Given the description of an element on the screen output the (x, y) to click on. 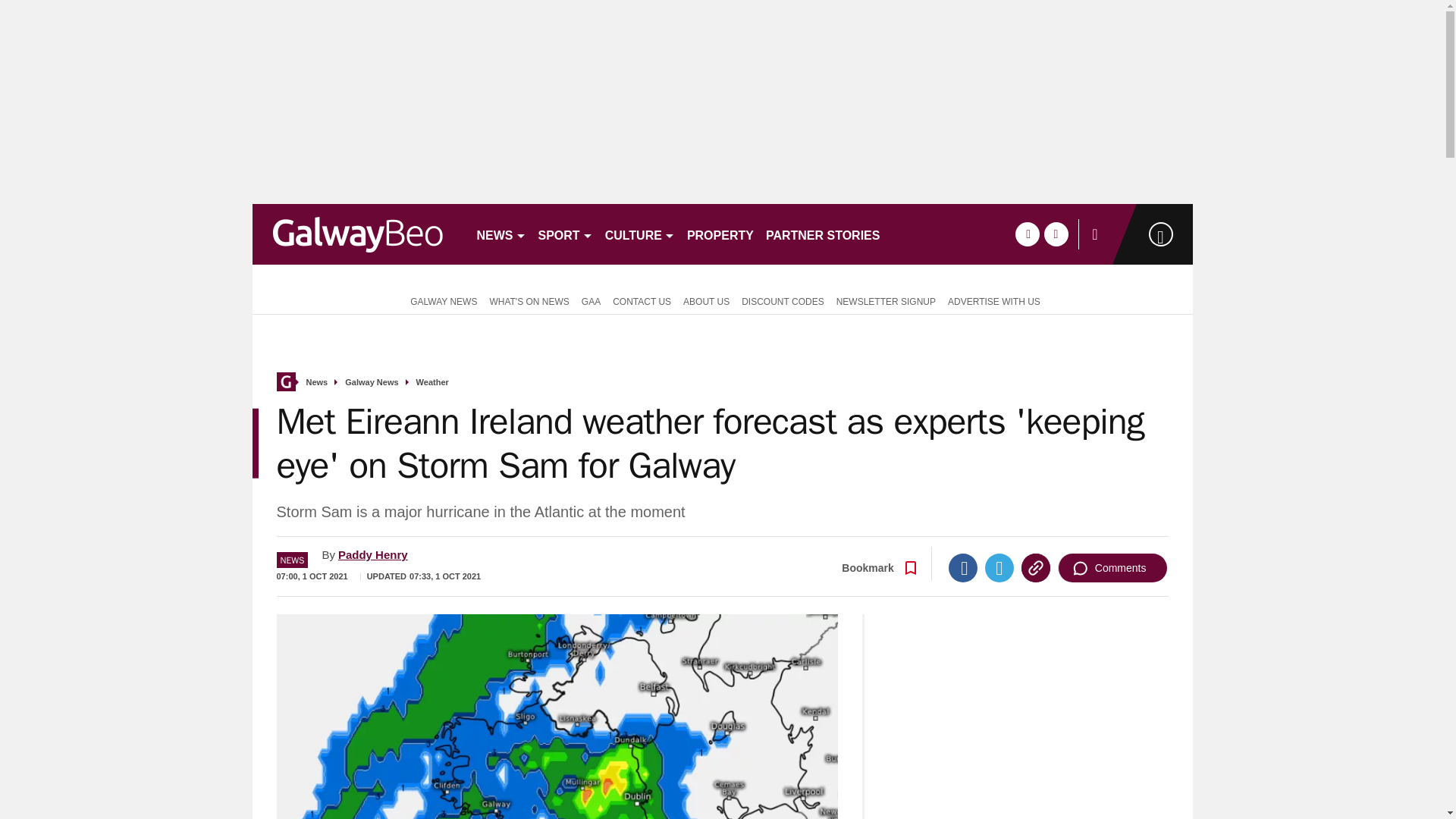
Twitter (999, 567)
galwaybeo (357, 233)
Comments (1112, 567)
Facebook (962, 567)
NEWS (500, 233)
SPORT (565, 233)
ABOUT US (706, 300)
twitter (1055, 233)
WHAT'S ON NEWS (529, 300)
frontpage (285, 381)
